Given the description of an element on the screen output the (x, y) to click on. 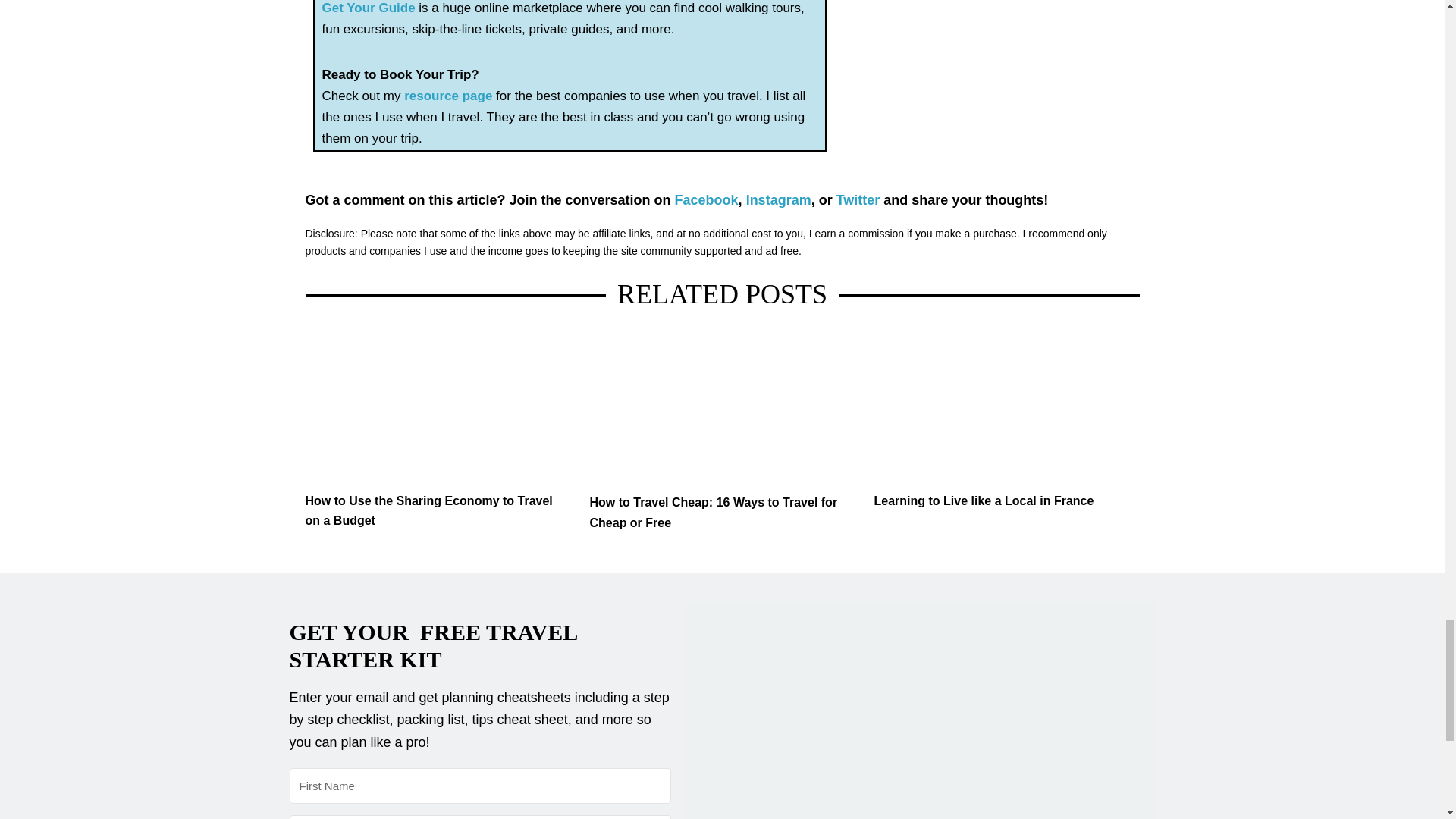
Learning to Live like a Local in France (1005, 407)
How to Use the Sharing Economy to Travel on a Budget (437, 511)
How to Use the Sharing Economy to Travel on a Budget (437, 407)
How to Travel Cheap: 16 Ways to Travel for Cheap or Free (722, 407)
How to Travel Cheap: 16 Ways to Travel for Cheap or Free (722, 513)
Learning to Live like a Local in France (1005, 501)
